Given the description of an element on the screen output the (x, y) to click on. 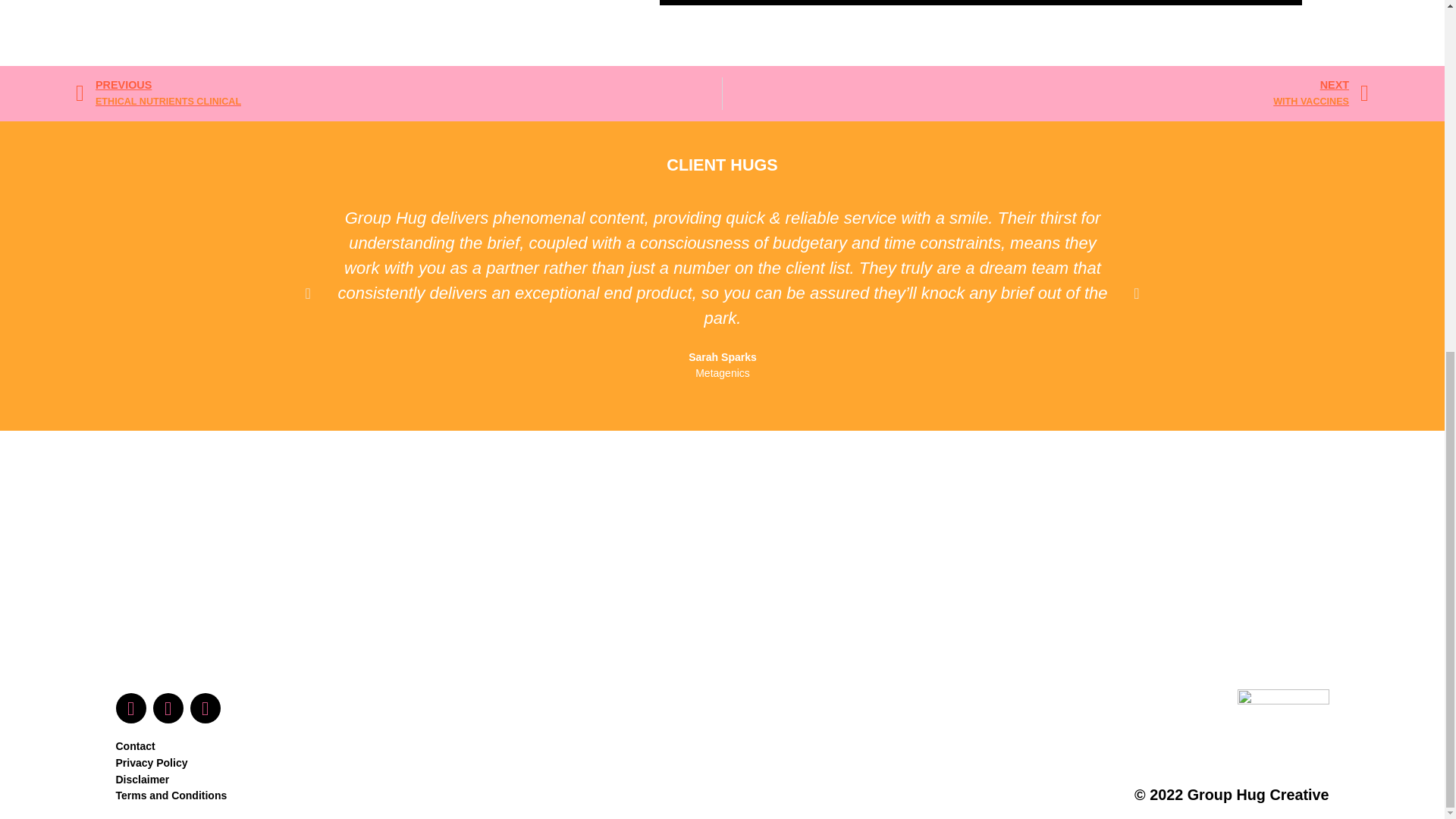
Instagram (167, 707)
Vimeo (204, 707)
vimeo Video Player (398, 92)
